Given the description of an element on the screen output the (x, y) to click on. 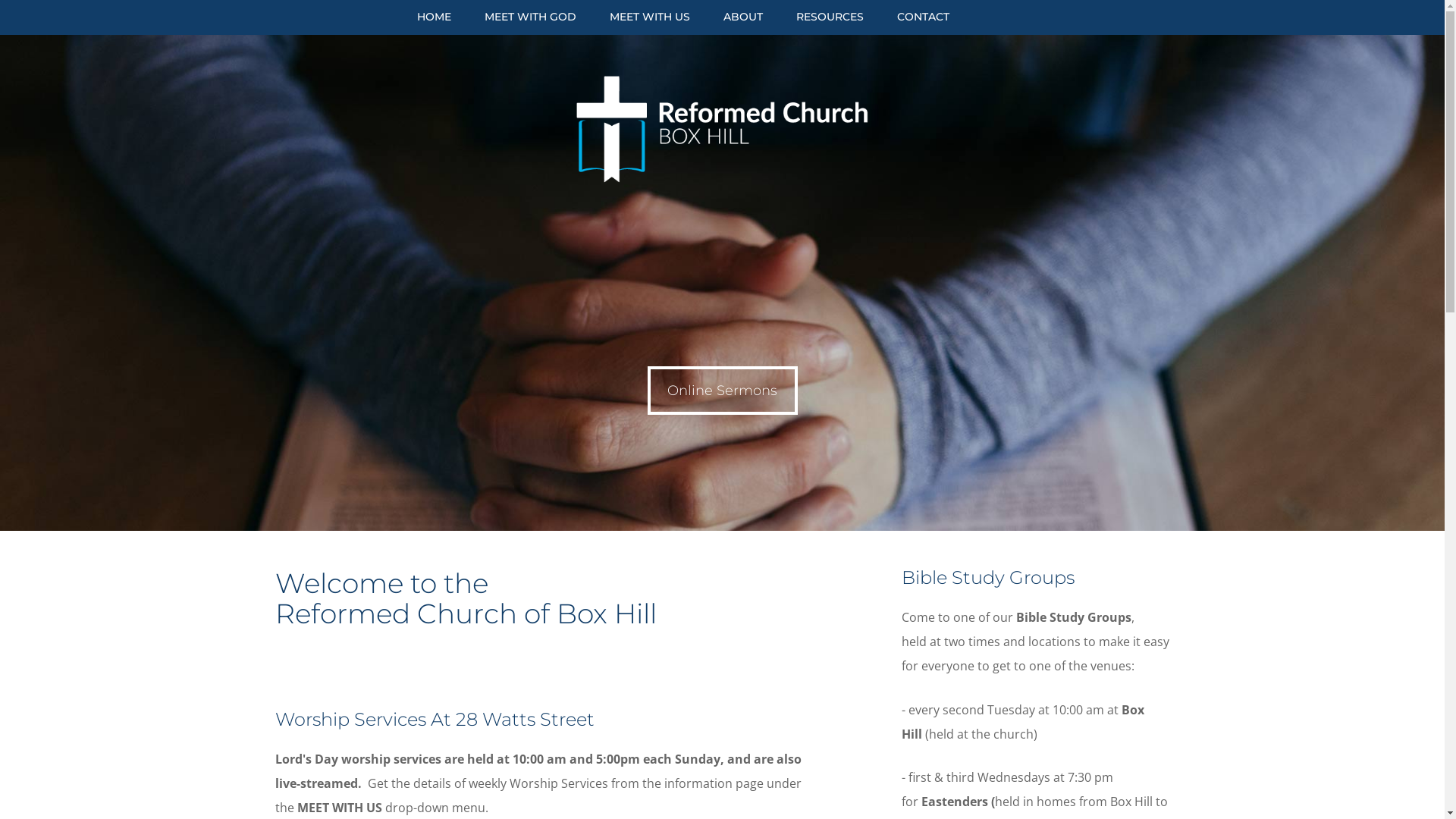
MEET WITH US Element type: text (649, 26)
HOME Element type: text (440, 26)
MEET WITH GOD Element type: text (529, 26)
CONTACT Element type: text (916, 26)
MEET WITH US Element type: text (339, 807)
RESOURCES Element type: text (829, 26)
ABOUT Element type: text (743, 26)
Online Sermons Element type: text (722, 390)
